Given the description of an element on the screen output the (x, y) to click on. 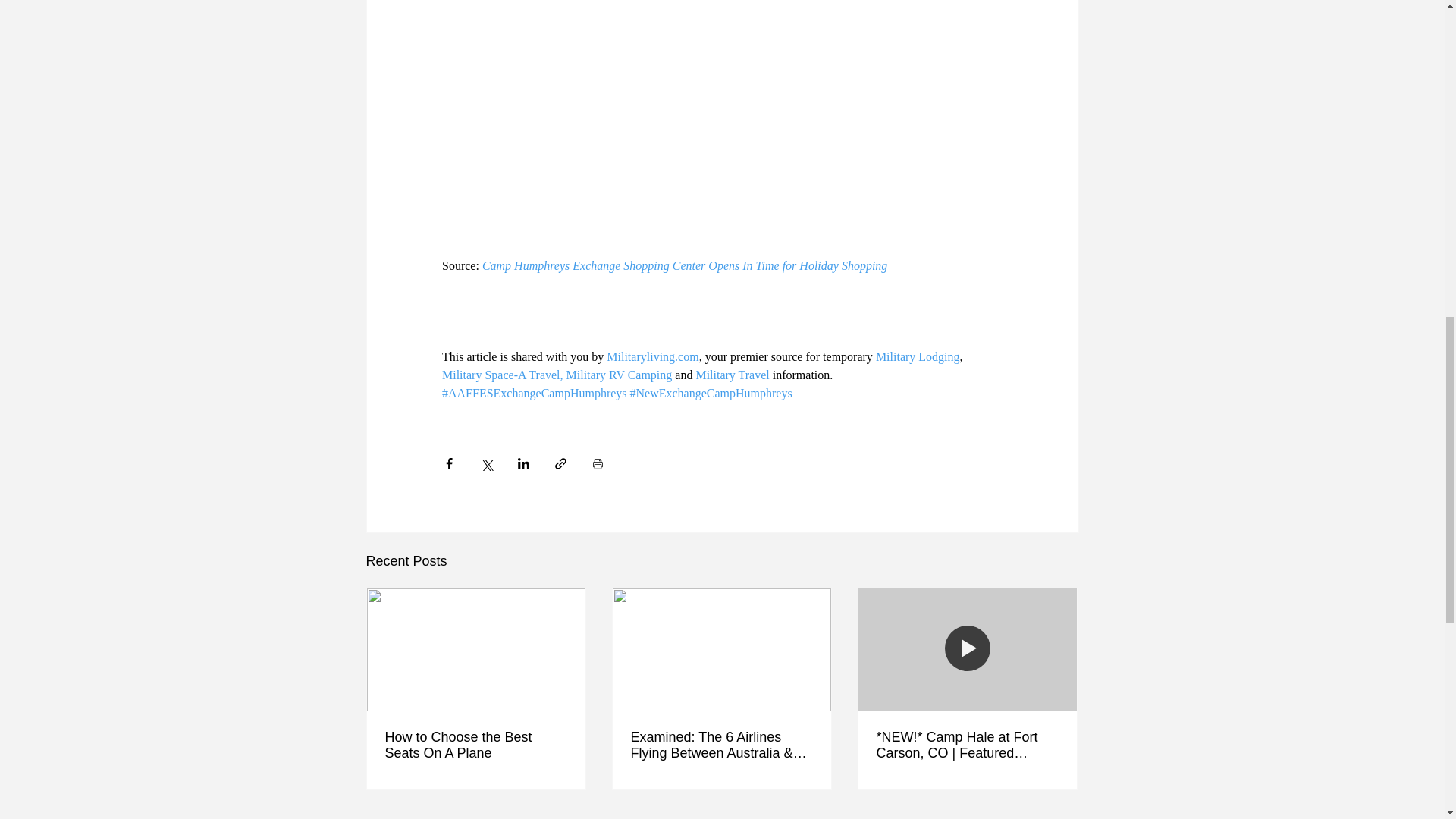
Military Lodging (917, 356)
Military Travel (731, 374)
Military RV Camping (618, 374)
Military Space-A Travel, (501, 374)
How to Choose the Best Seats On A Plane (476, 745)
Militaryliving.com (652, 356)
